Given the description of an element on the screen output the (x, y) to click on. 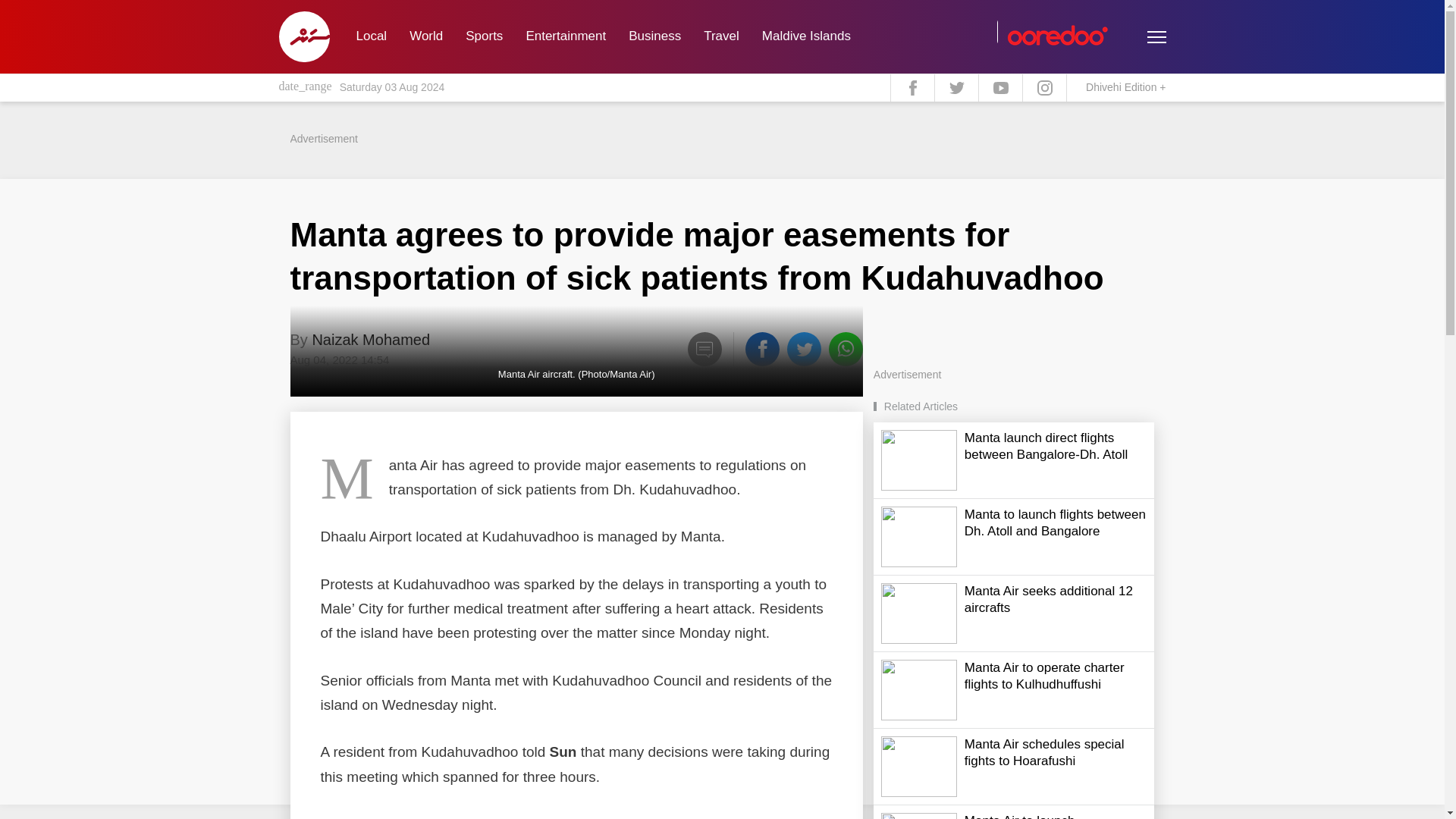
Business (655, 36)
Entertainment (565, 36)
Naizak Mohamed (370, 339)
World (425, 36)
Maldive Islands (806, 36)
Sports (483, 36)
Local (370, 36)
Travel (722, 36)
